Given the description of an element on the screen output the (x, y) to click on. 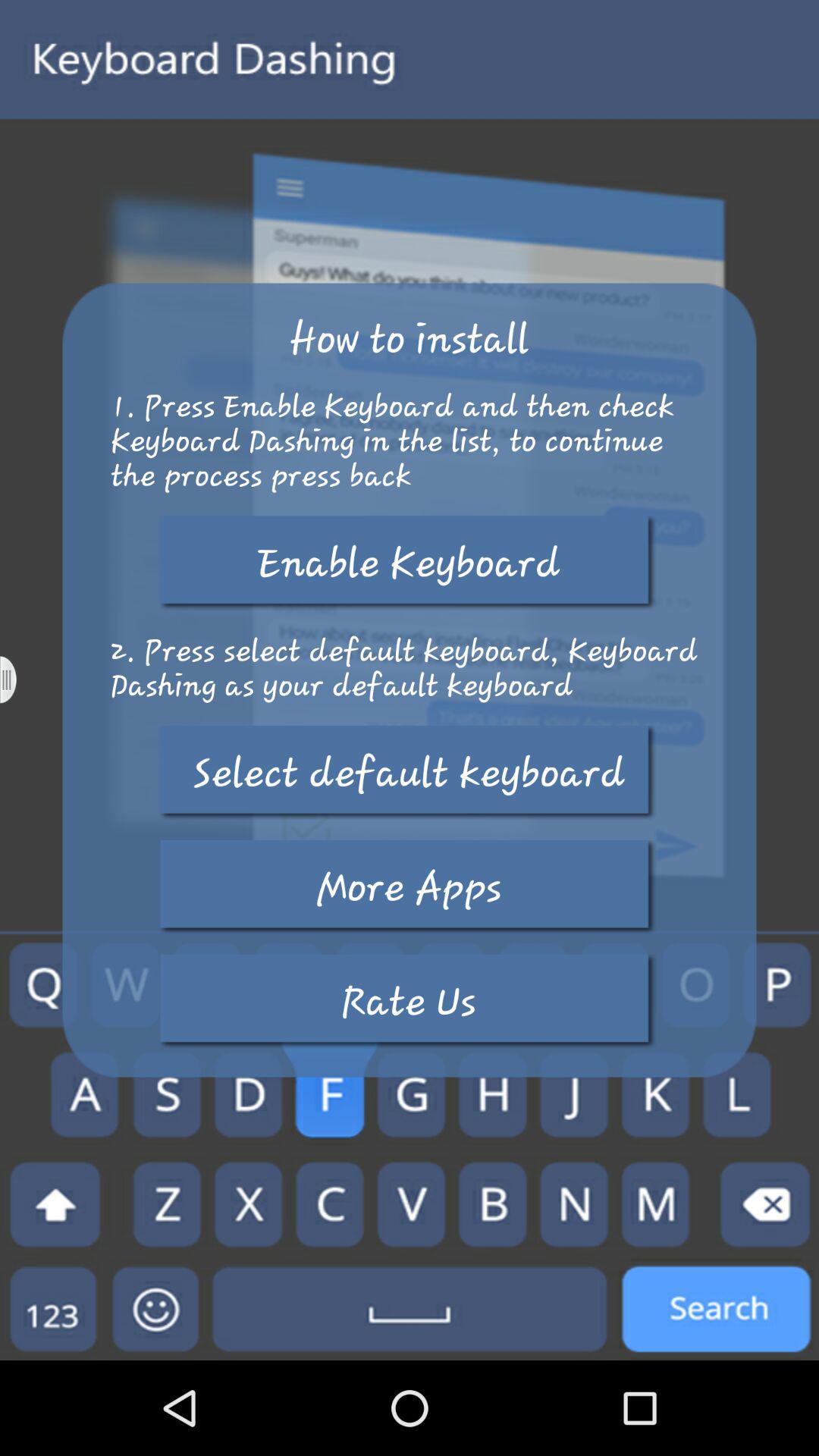
jump to more apps item (409, 887)
